Given the description of an element on the screen output the (x, y) to click on. 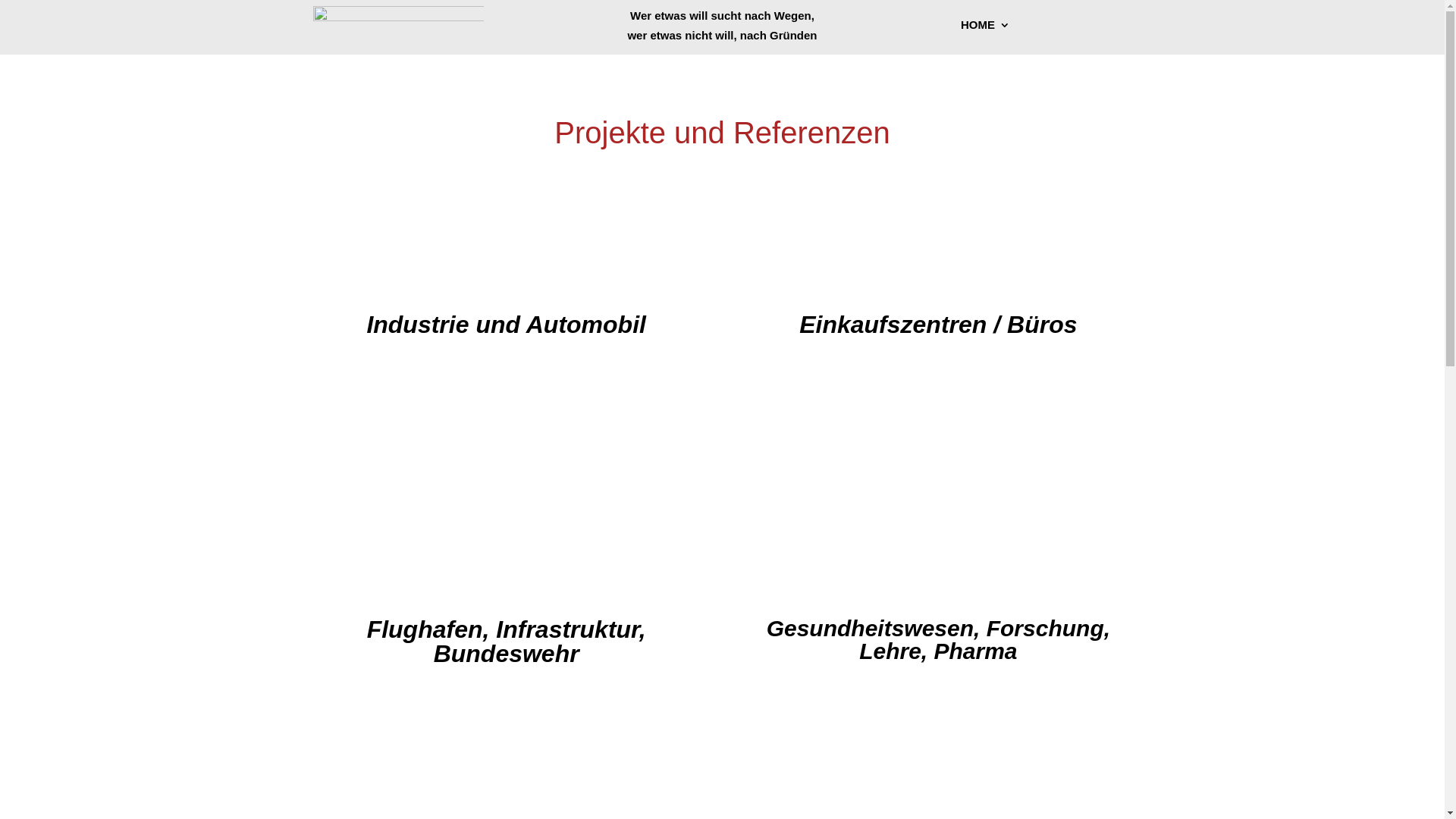
HOME Element type: text (985, 27)
Bildschirmfoto_2020-11-06_um_16.04.28-removebg-preview Element type: hover (397, 27)
